Given the description of an element on the screen output the (x, y) to click on. 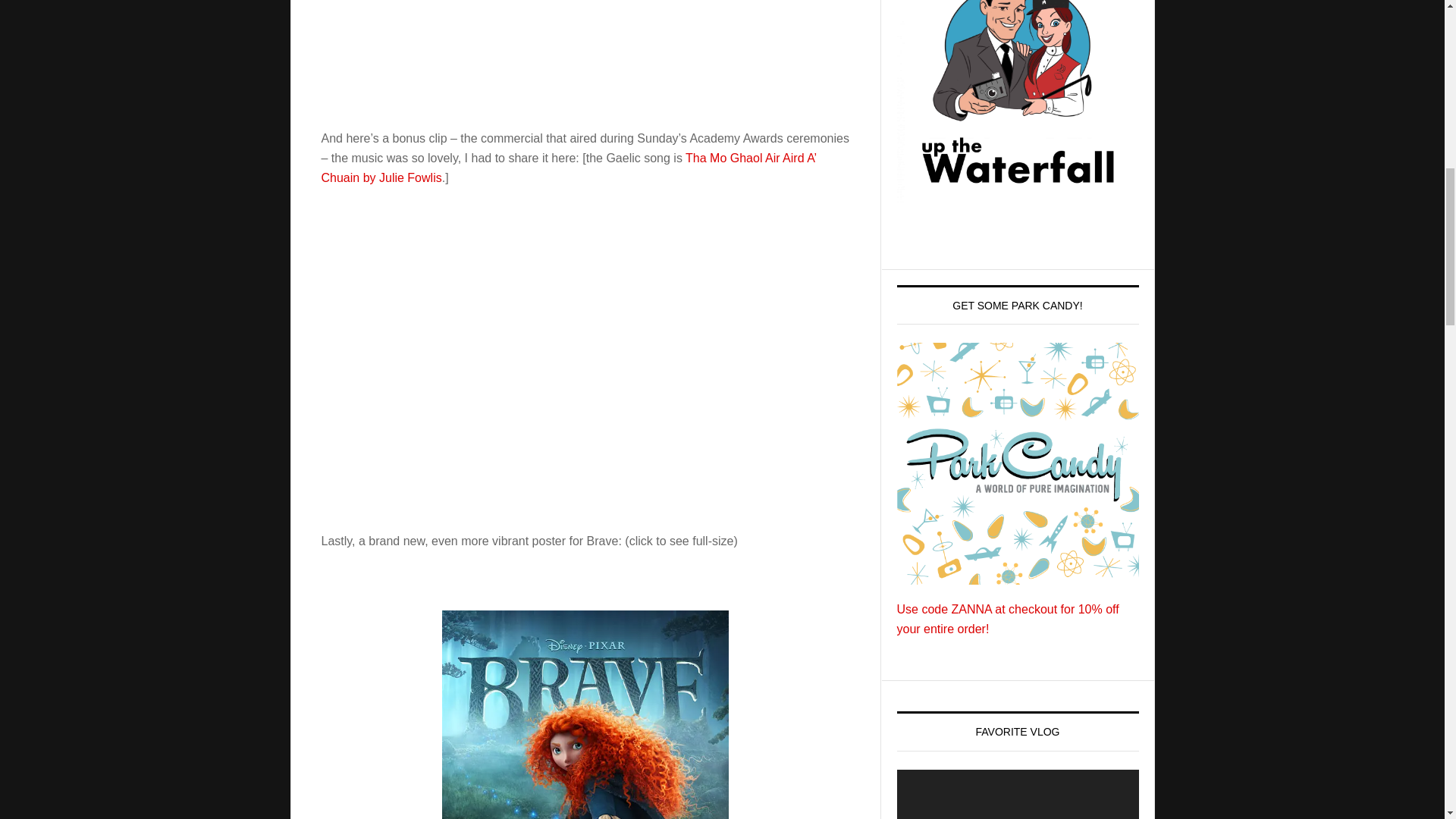
Brave poster (585, 714)
